Given the description of an element on the screen output the (x, y) to click on. 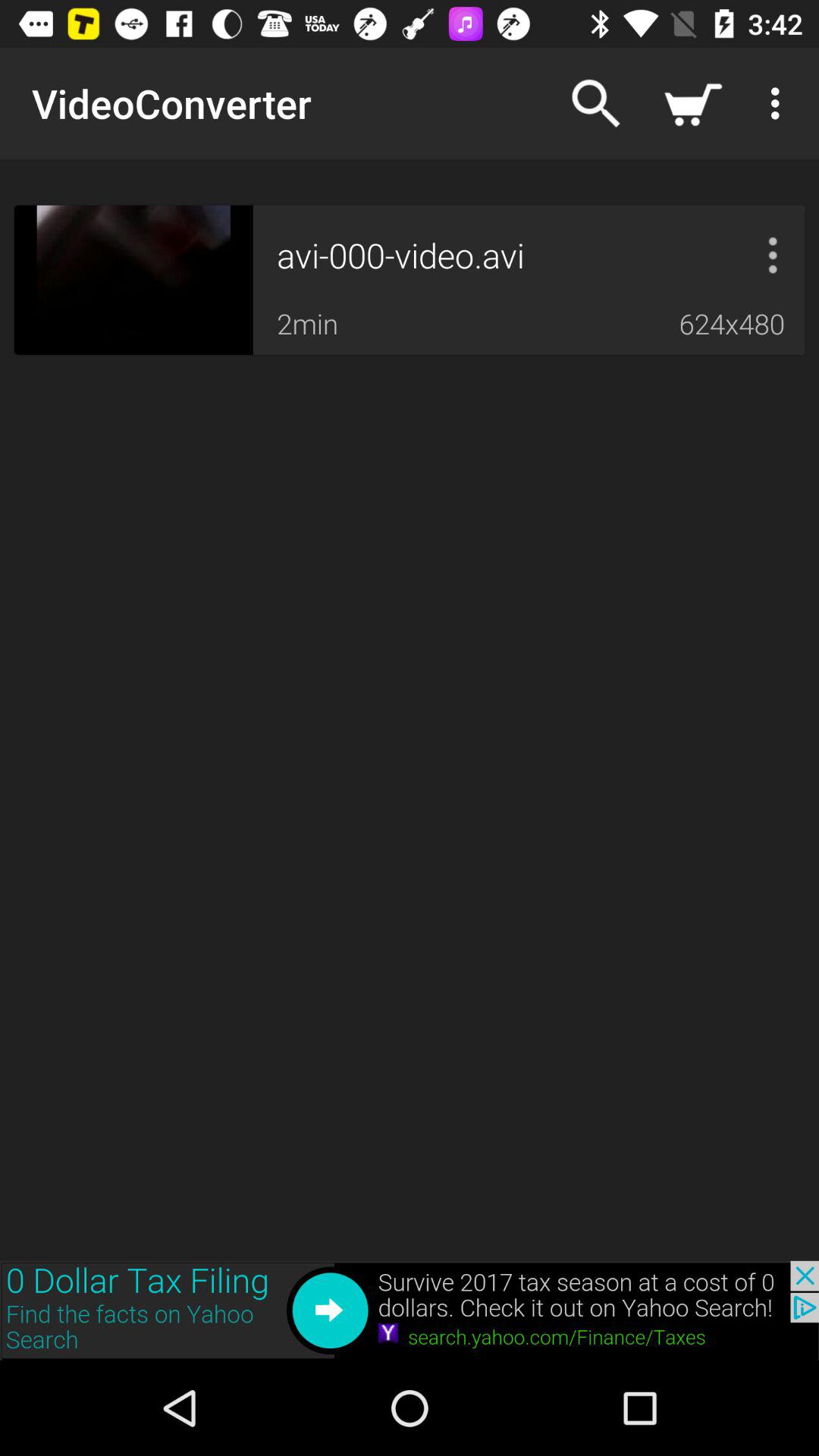
click to more option (772, 254)
